Given the description of an element on the screen output the (x, y) to click on. 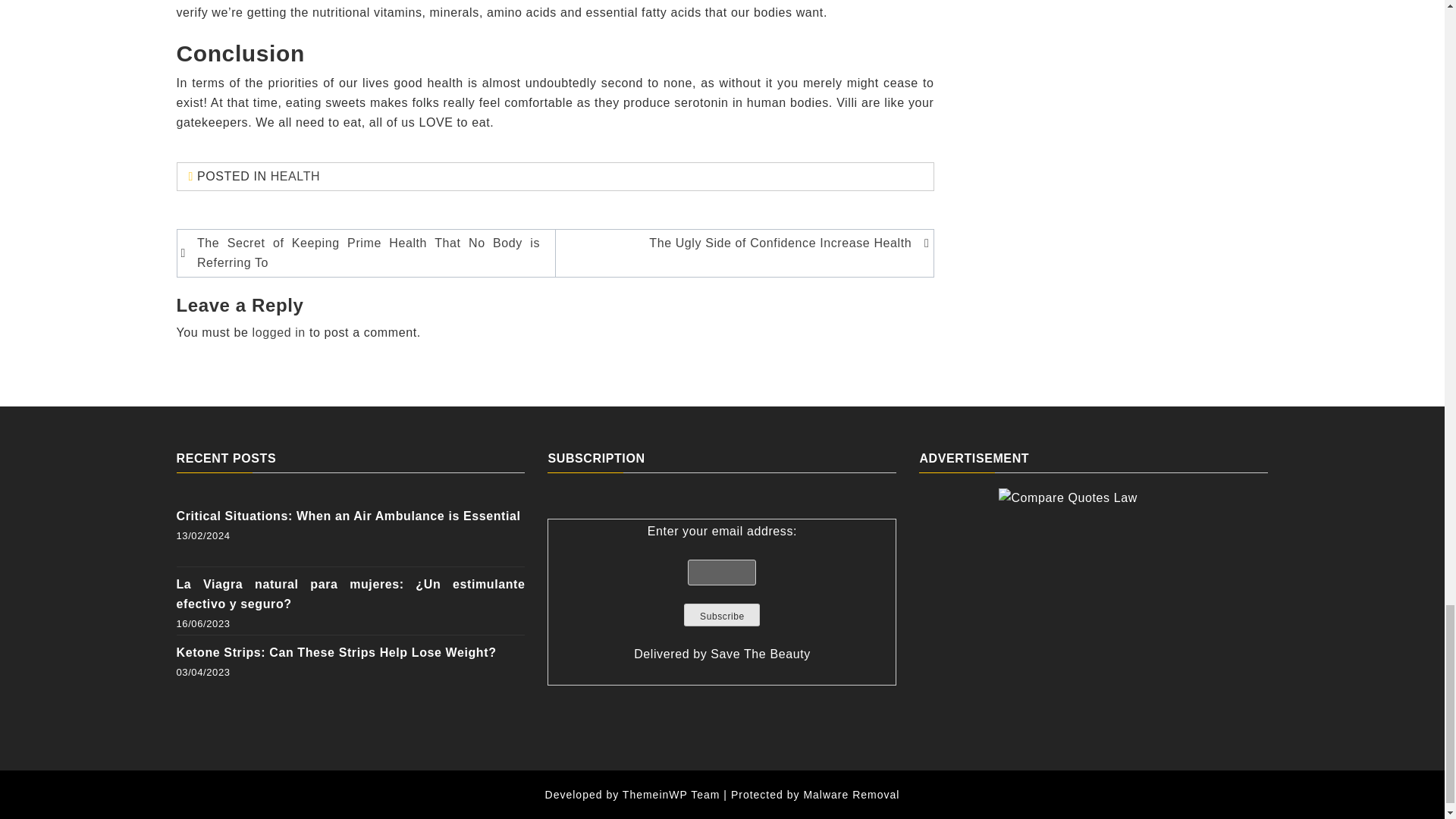
logged in (278, 332)
HEALTH (295, 175)
Compare Quotes Law (1093, 583)
Subscribe (722, 614)
The Ugly Side of Confidence Increase Health (741, 243)
